Given the description of an element on the screen output the (x, y) to click on. 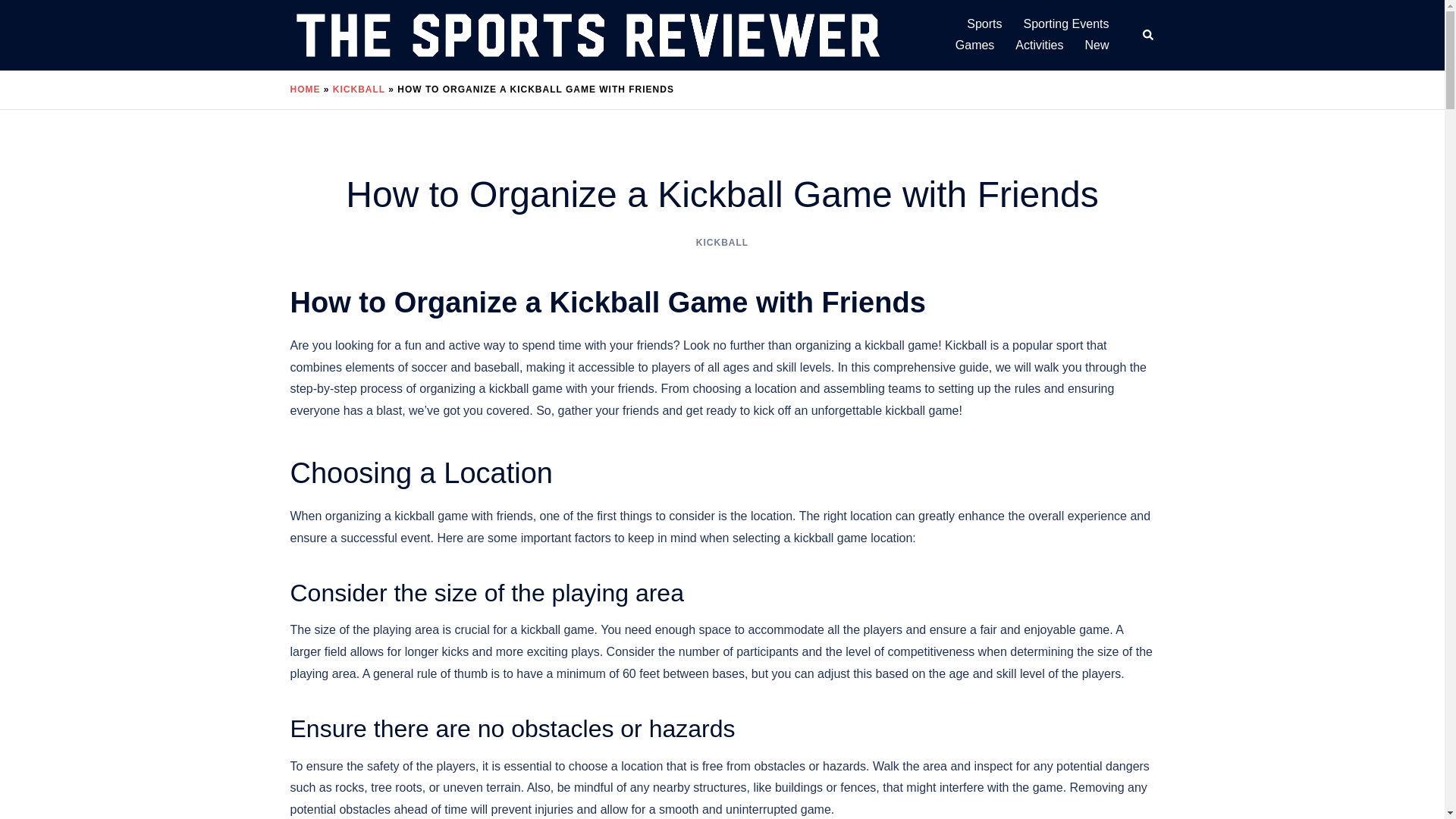
Search (1147, 34)
HOME (304, 89)
Games (974, 45)
KICKBALL (721, 242)
TheSportsReviewer.com (586, 33)
KICKBALL (359, 89)
Sports (983, 24)
New (1096, 45)
Sporting Events (1066, 24)
Activities (1038, 45)
